Given the description of an element on the screen output the (x, y) to click on. 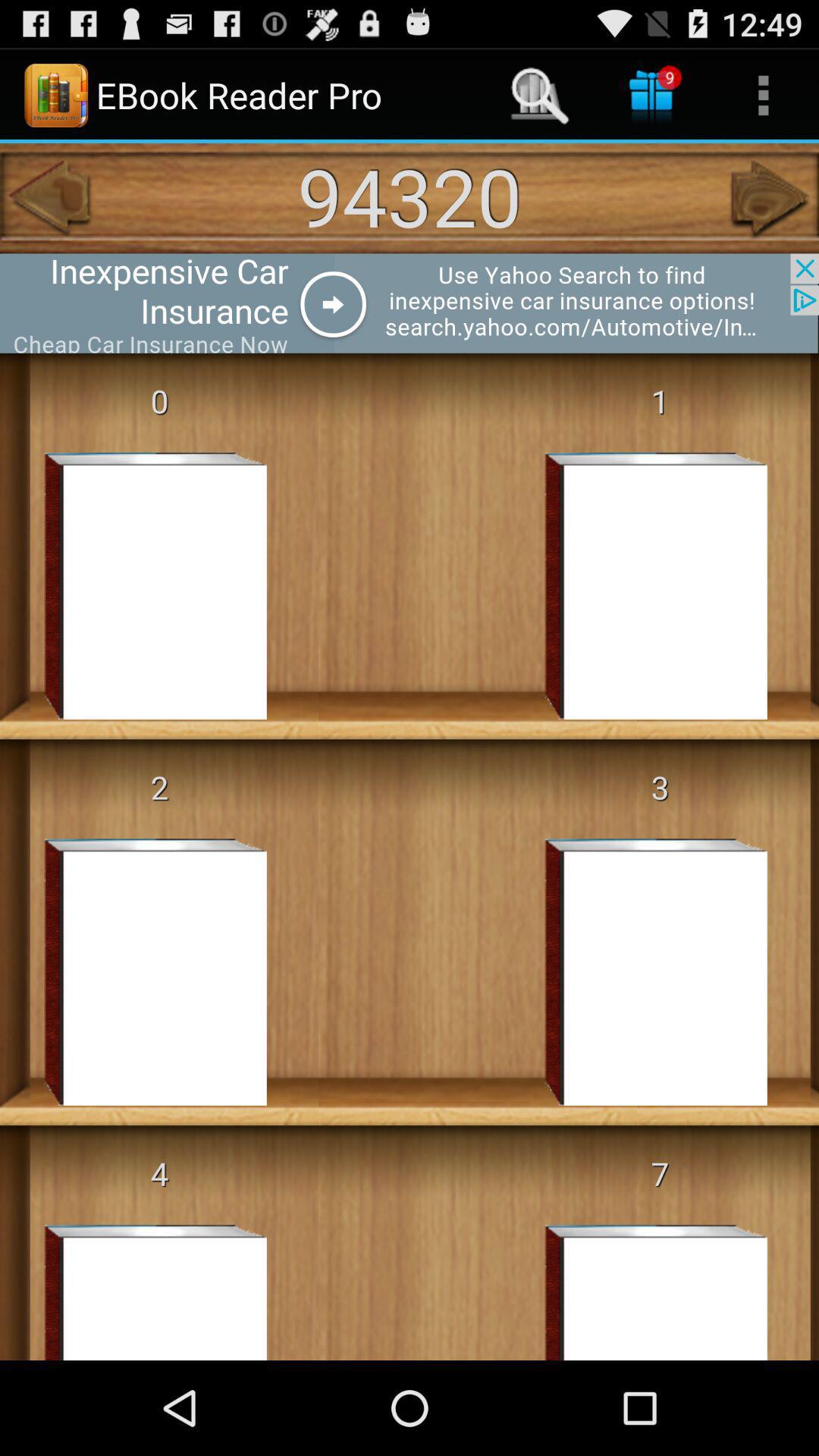
choose app next to the 94320 icon (47, 198)
